Given the description of an element on the screen output the (x, y) to click on. 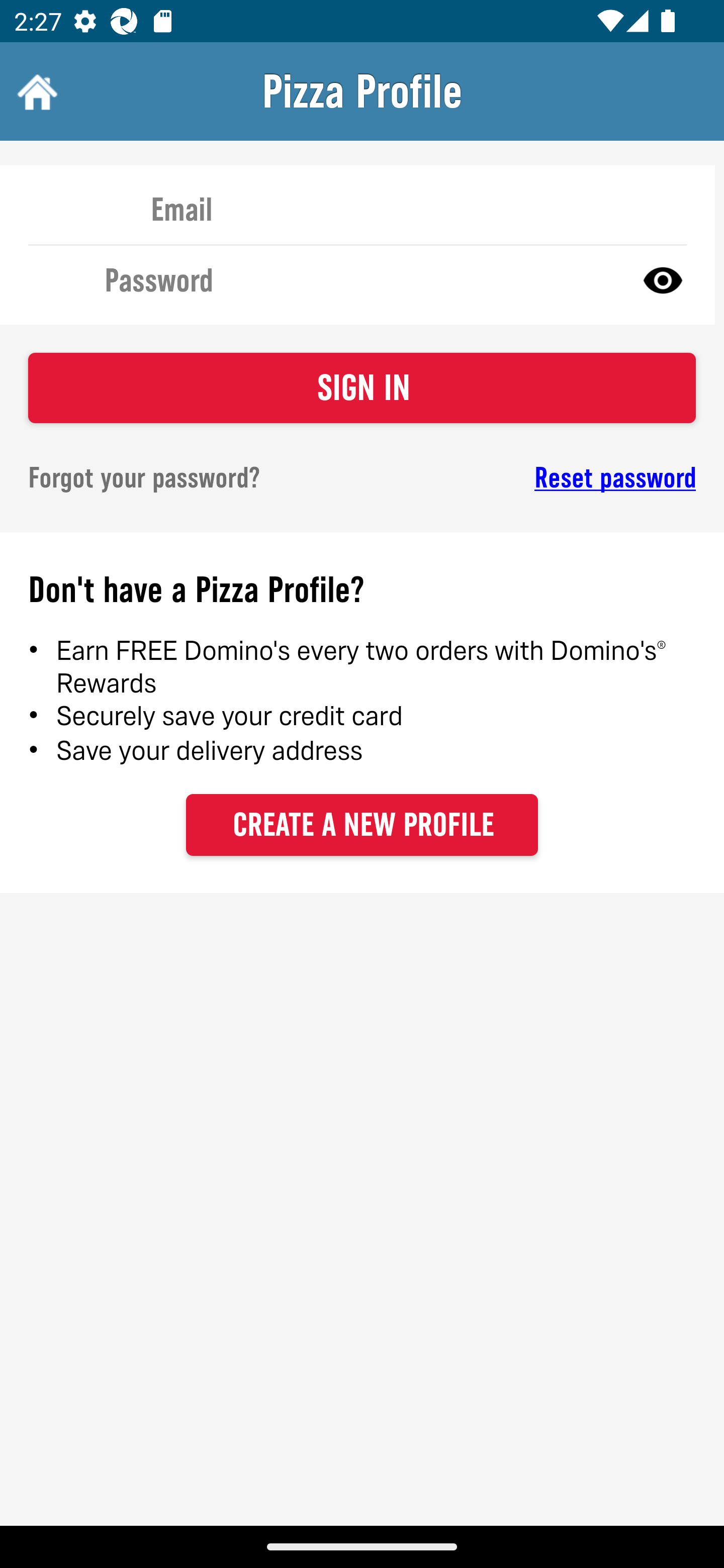
Home (35, 91)
Show Password (663, 279)
SIGN IN (361, 387)
Reset password (545, 477)
CREATE A NEW PROFILE (361, 824)
